Given the description of an element on the screen output the (x, y) to click on. 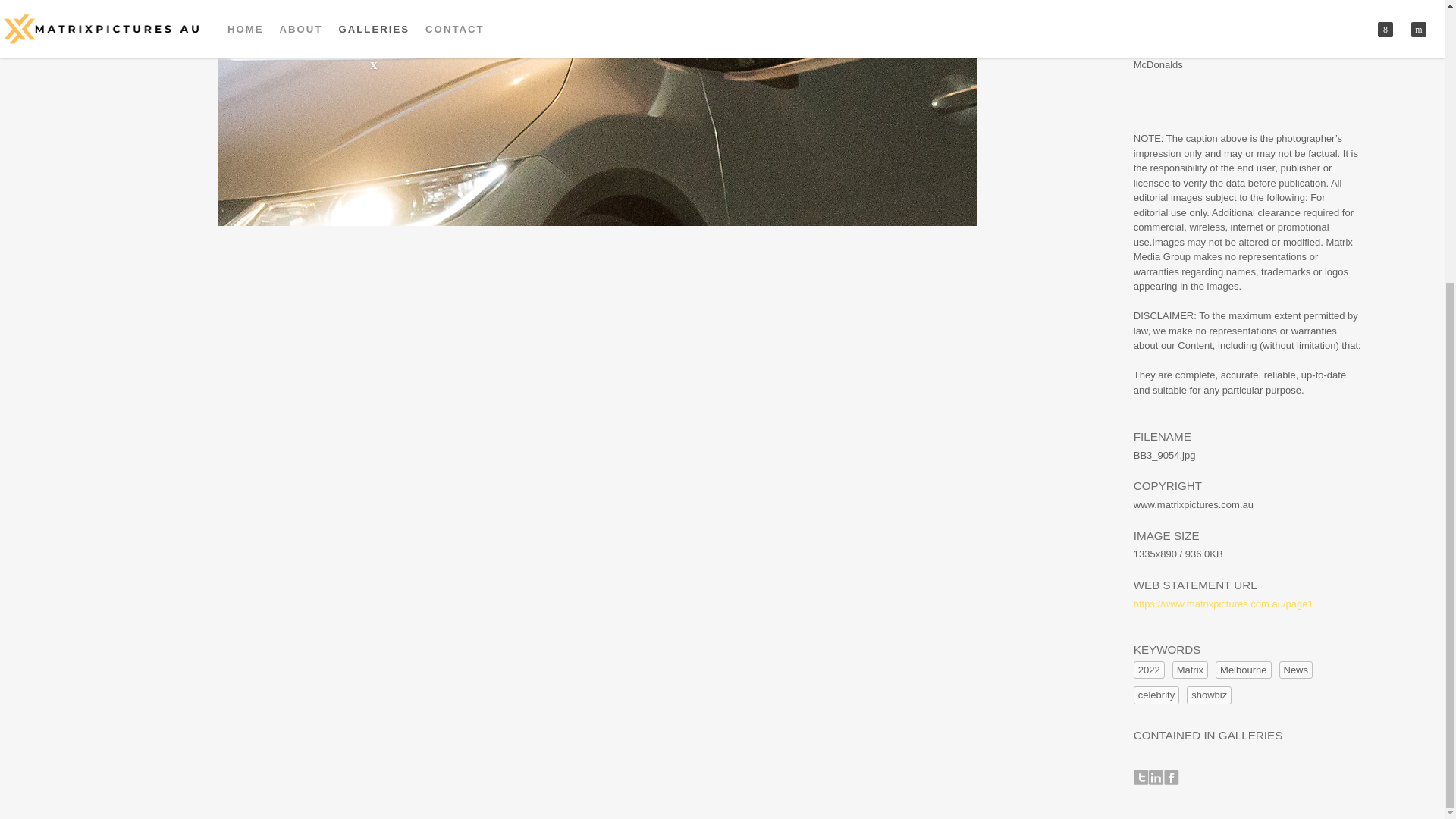
showbiz (1208, 695)
2022 (1149, 669)
celebrity (1156, 695)
Melbourne (1243, 669)
Matrix (1190, 669)
News (1295, 669)
